Given the description of an element on the screen output the (x, y) to click on. 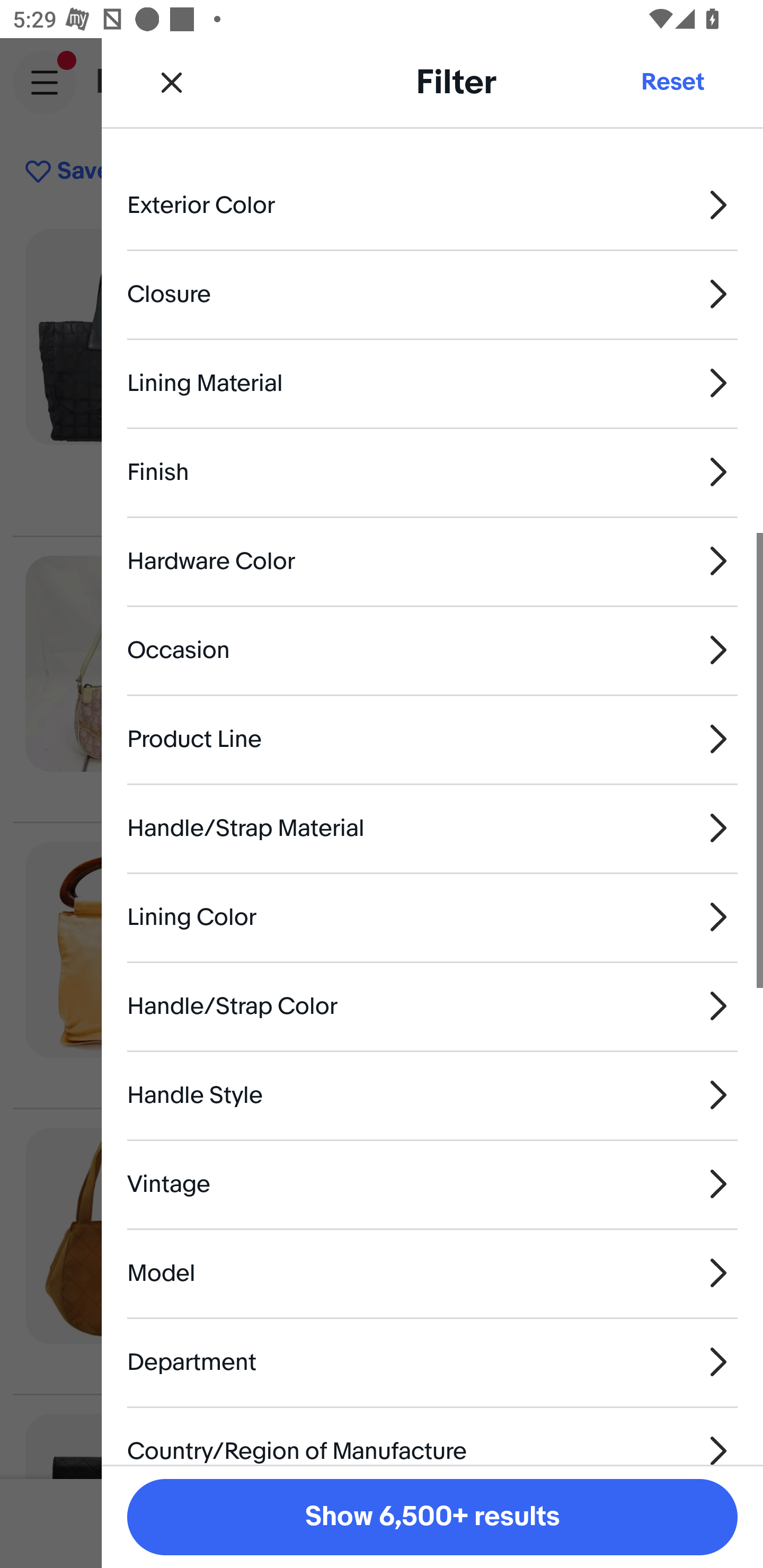
Close Filter (171, 81)
Reset (672, 81)
Exterior Color (432, 204)
Closure (432, 293)
Lining Material (432, 383)
Finish (432, 471)
Hardware Color (432, 560)
Occasion (432, 649)
Product Line (432, 739)
Handle/Strap Material (432, 827)
Lining Color (432, 916)
Handle/Strap Color (432, 1005)
Handle Style (432, 1094)
Vintage (432, 1183)
Model (432, 1272)
Department (432, 1361)
Country/Region of Manufacture (432, 1435)
Show 6,500+ results (432, 1516)
